Given the description of an element on the screen output the (x, y) to click on. 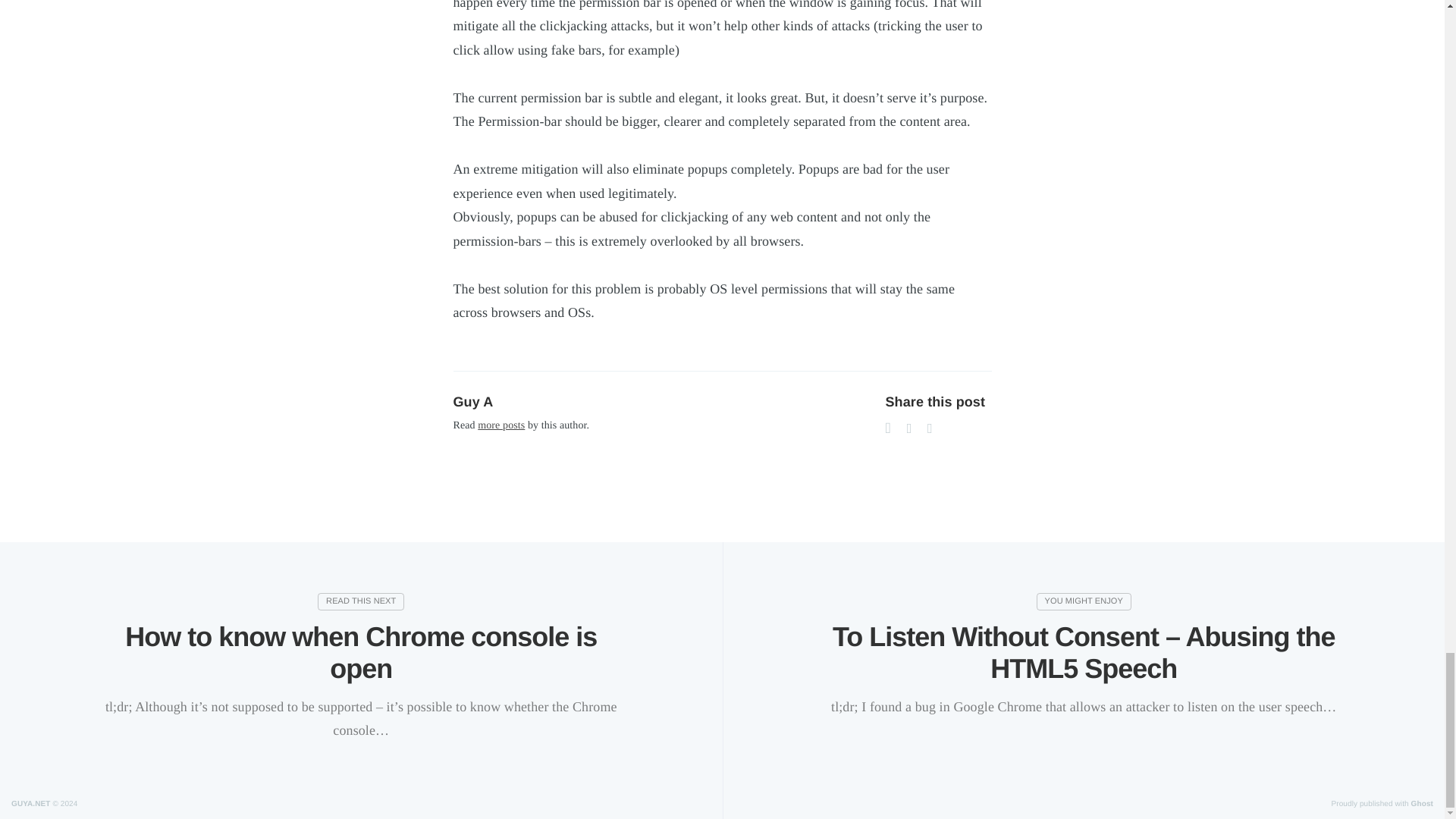
GUYA.NET (30, 804)
Guy A (472, 401)
Ghost (1421, 804)
more posts (500, 425)
